Given the description of an element on the screen output the (x, y) to click on. 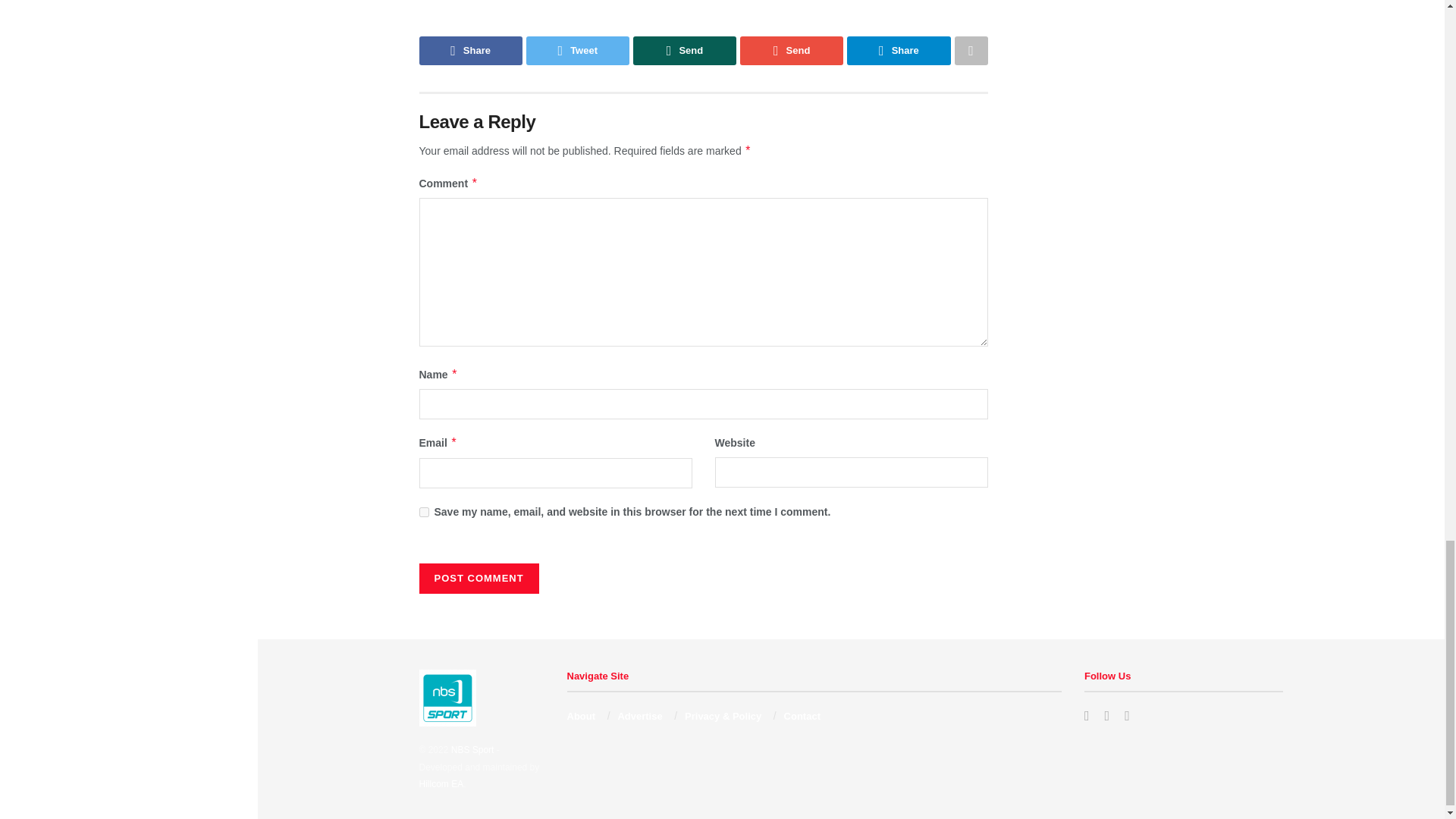
Hillcom (441, 783)
yes (423, 511)
Post Comment (478, 578)
